Given the description of an element on the screen output the (x, y) to click on. 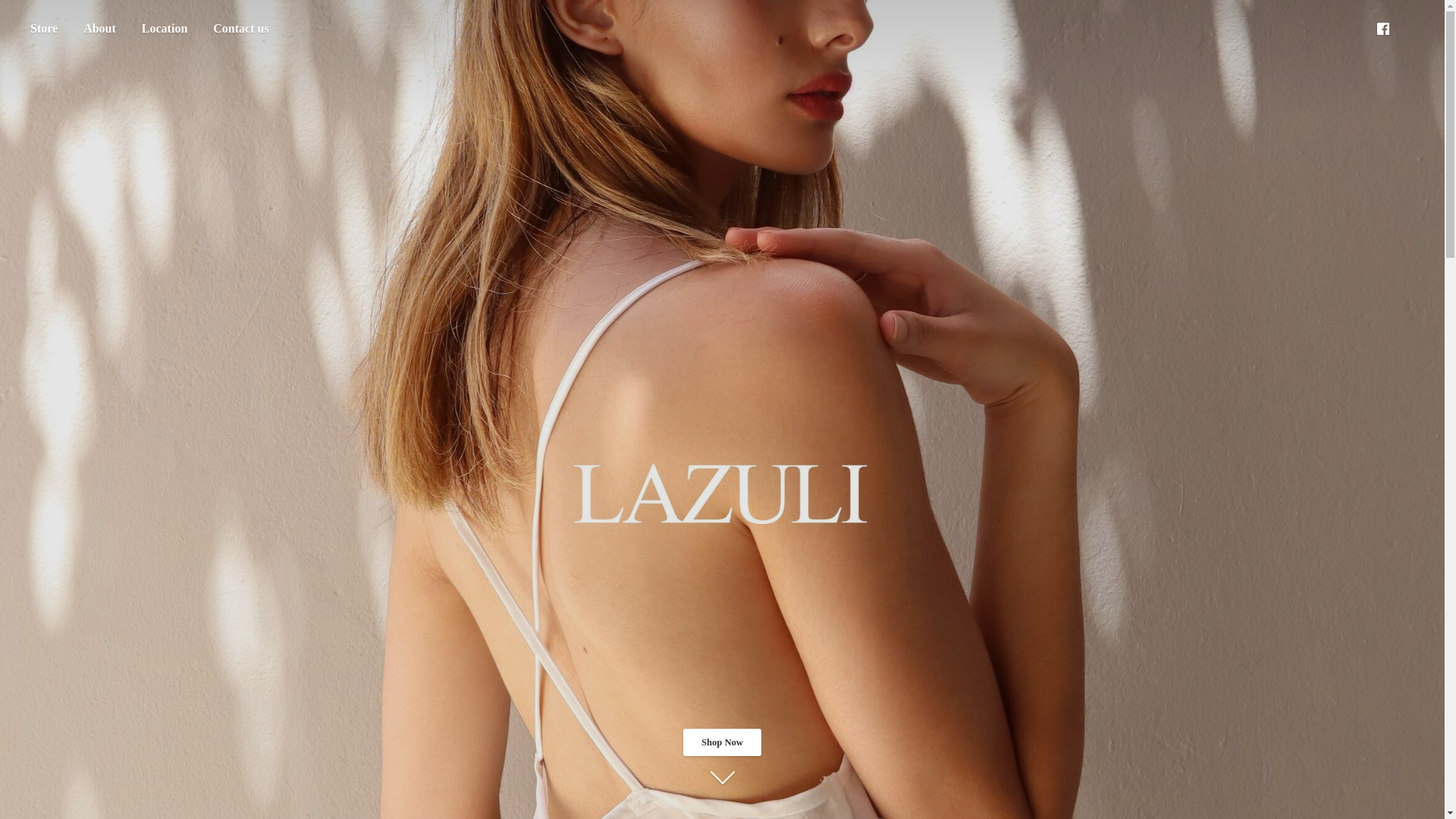
Shop Now (721, 741)
Contact us (240, 29)
Store (43, 29)
About (99, 29)
Location (164, 29)
